Given the description of an element on the screen output the (x, y) to click on. 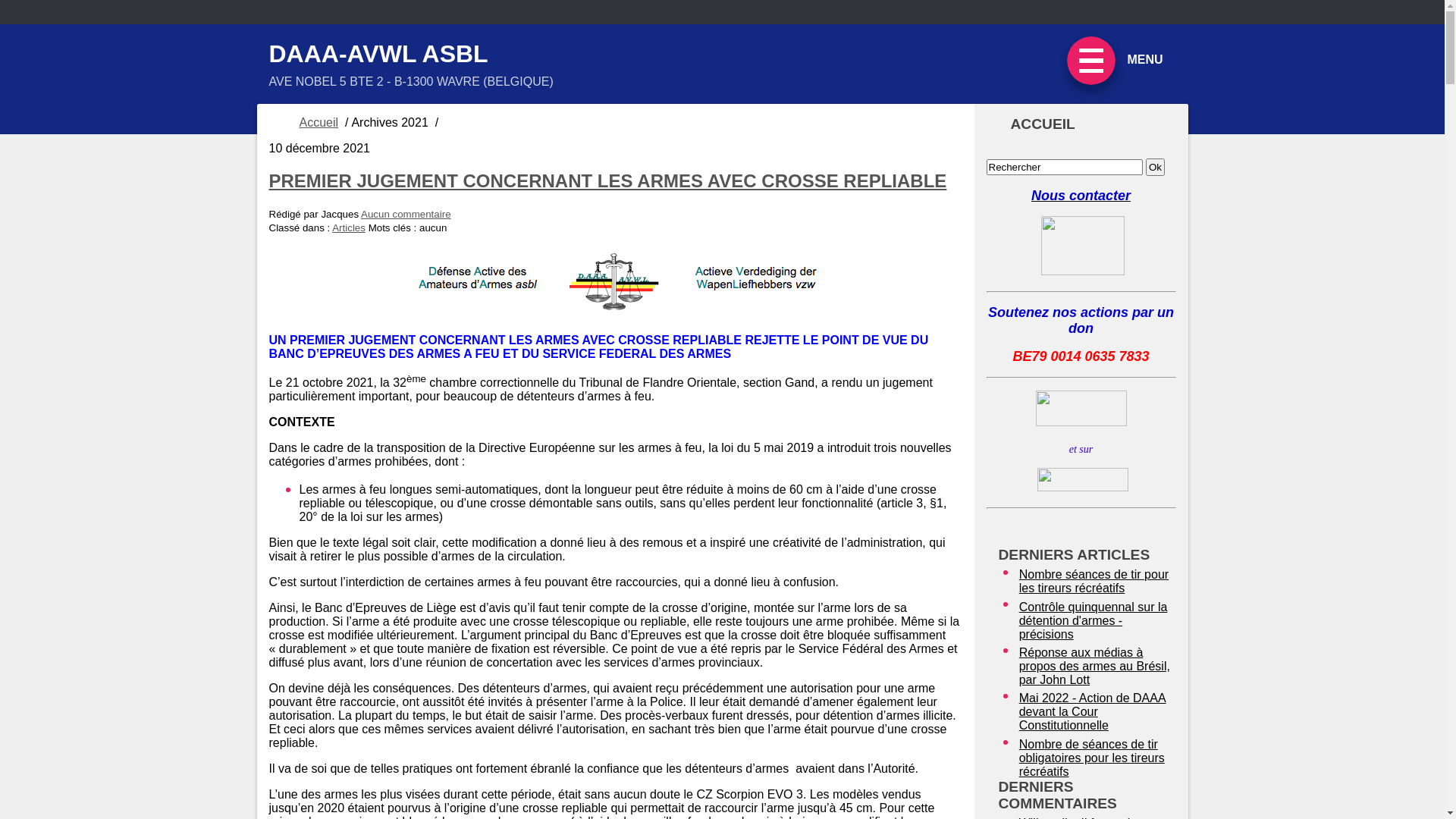
Aucun commentaire Element type: text (405, 213)
Ok Element type: text (1154, 166)
ACCUEIL Element type: text (1080, 124)
PREMIER JUGEMENT CONCERNANT LES ARMES AVEC CROSSE REPLIABLE Element type: text (607, 180)
Nous contacter Element type: text (1080, 195)
Articles Element type: text (348, 227)
Mai 2022 - Action de DAAA devant la Cour Constitutionnelle Element type: text (1095, 711)
Accueil Element type: text (318, 122)
